Given the description of an element on the screen output the (x, y) to click on. 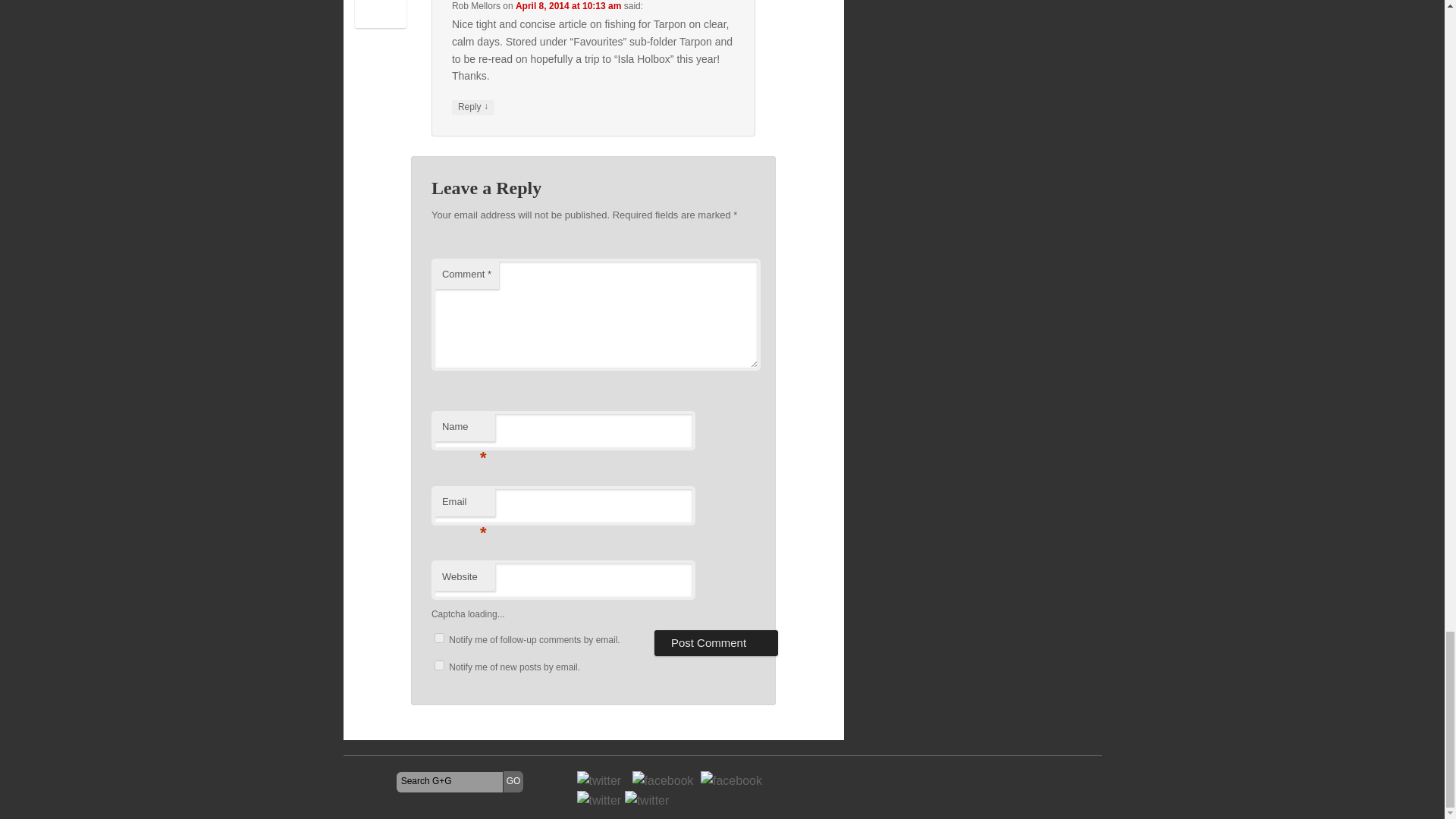
Post Comment (715, 642)
subscribe (438, 665)
subscribe (438, 637)
GO (513, 781)
